Given the description of an element on the screen output the (x, y) to click on. 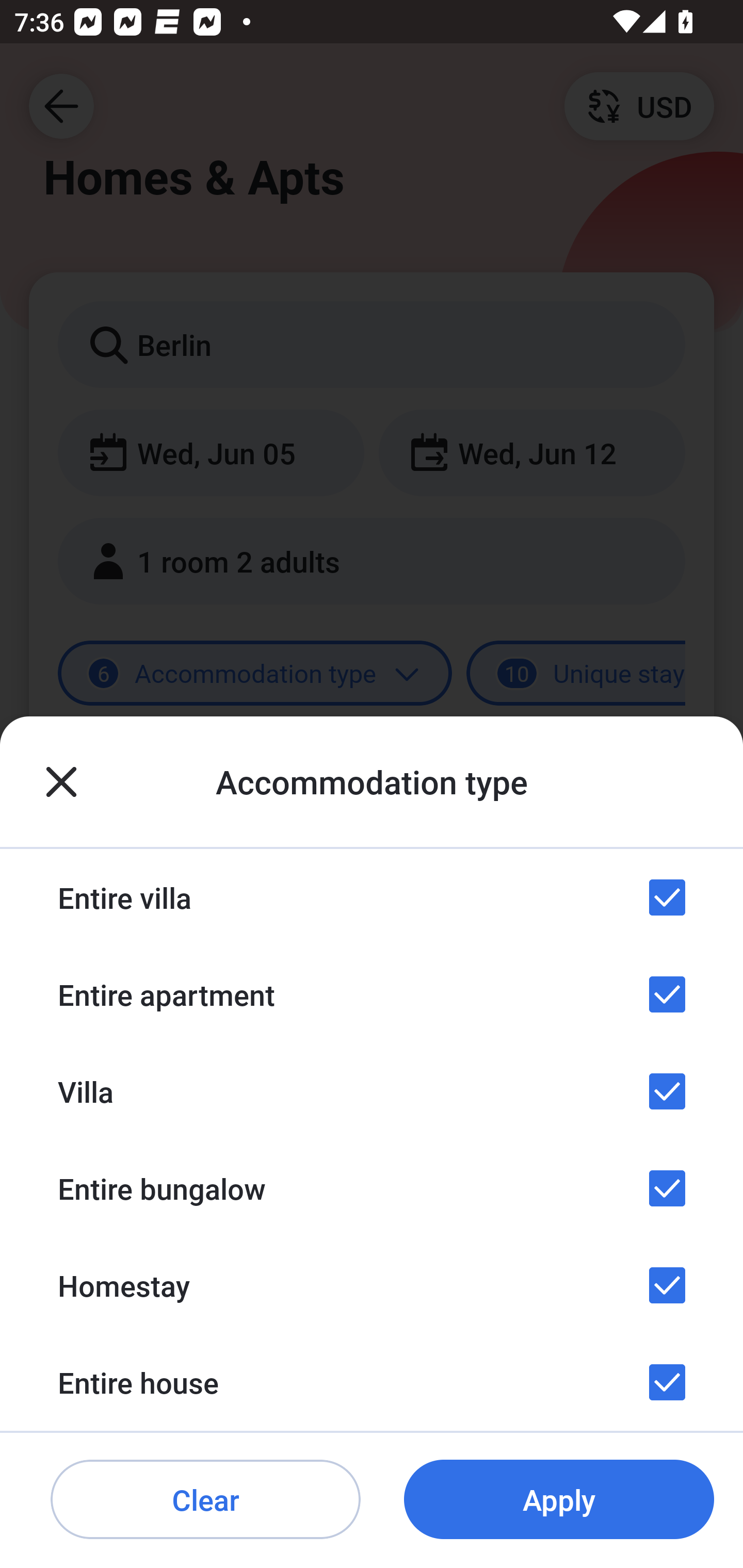
Entire villa (371, 897)
Entire apartment (371, 994)
Villa (371, 1091)
Entire bungalow (371, 1188)
Homestay (371, 1284)
Entire house (371, 1382)
Clear (205, 1499)
Apply (559, 1499)
